Given the description of an element on the screen output the (x, y) to click on. 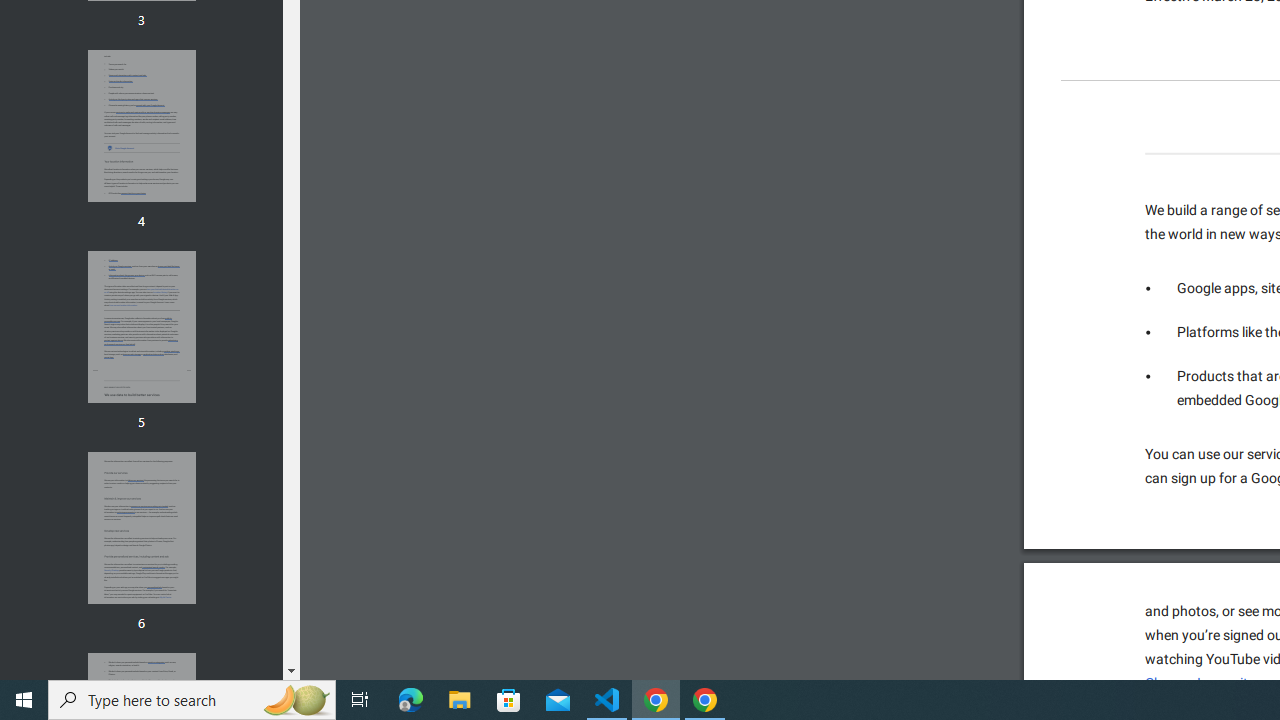
Thumbnail for page 6 (141, 528)
Thumbnail for page 4 (141, 125)
Chrome Incognito (1200, 683)
Thumbnail for page 5 (141, 326)
AutomationID: thumbnail (141, 528)
